Given the description of an element on the screen output the (x, y) to click on. 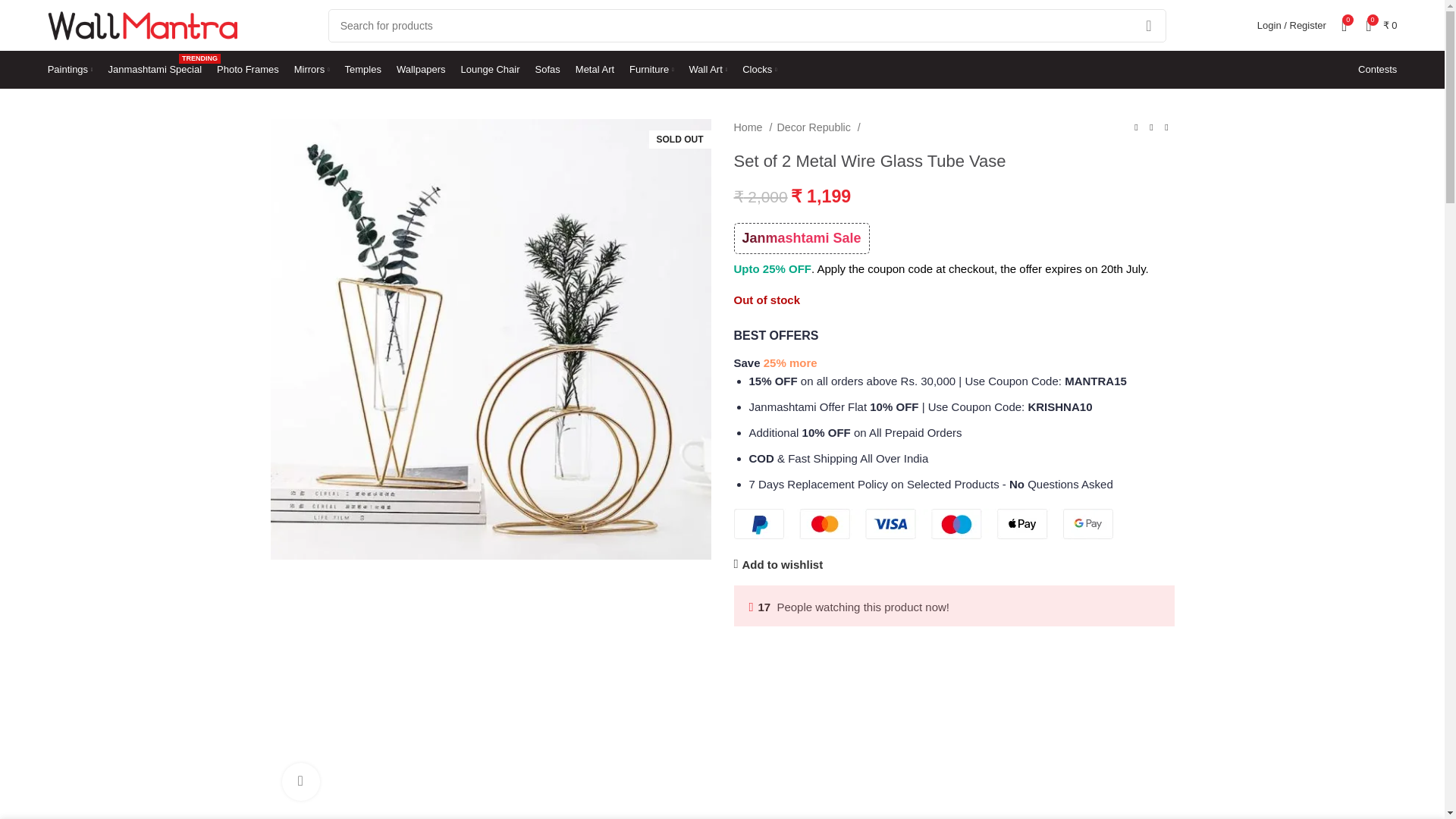
My Wishlist (1343, 25)
Paintings (154, 69)
My account (70, 69)
0 (1291, 25)
Search for products (1343, 25)
Shopping cart (747, 25)
Photo Frames (1381, 25)
Mirrors (247, 69)
SEARCH (312, 69)
